Given the description of an element on the screen output the (x, y) to click on. 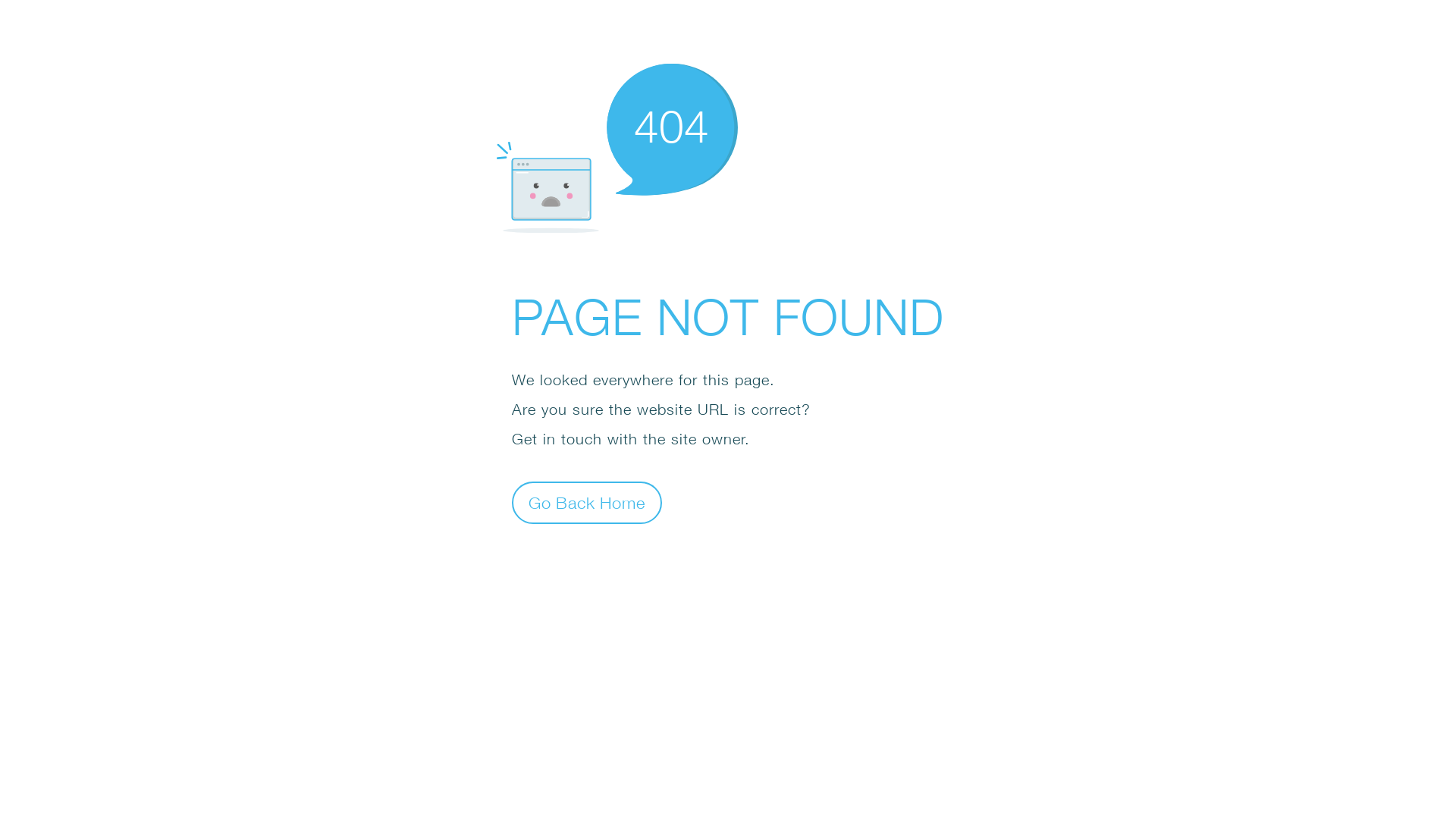
Go Back Home Element type: text (586, 502)
